Given the description of an element on the screen output the (x, y) to click on. 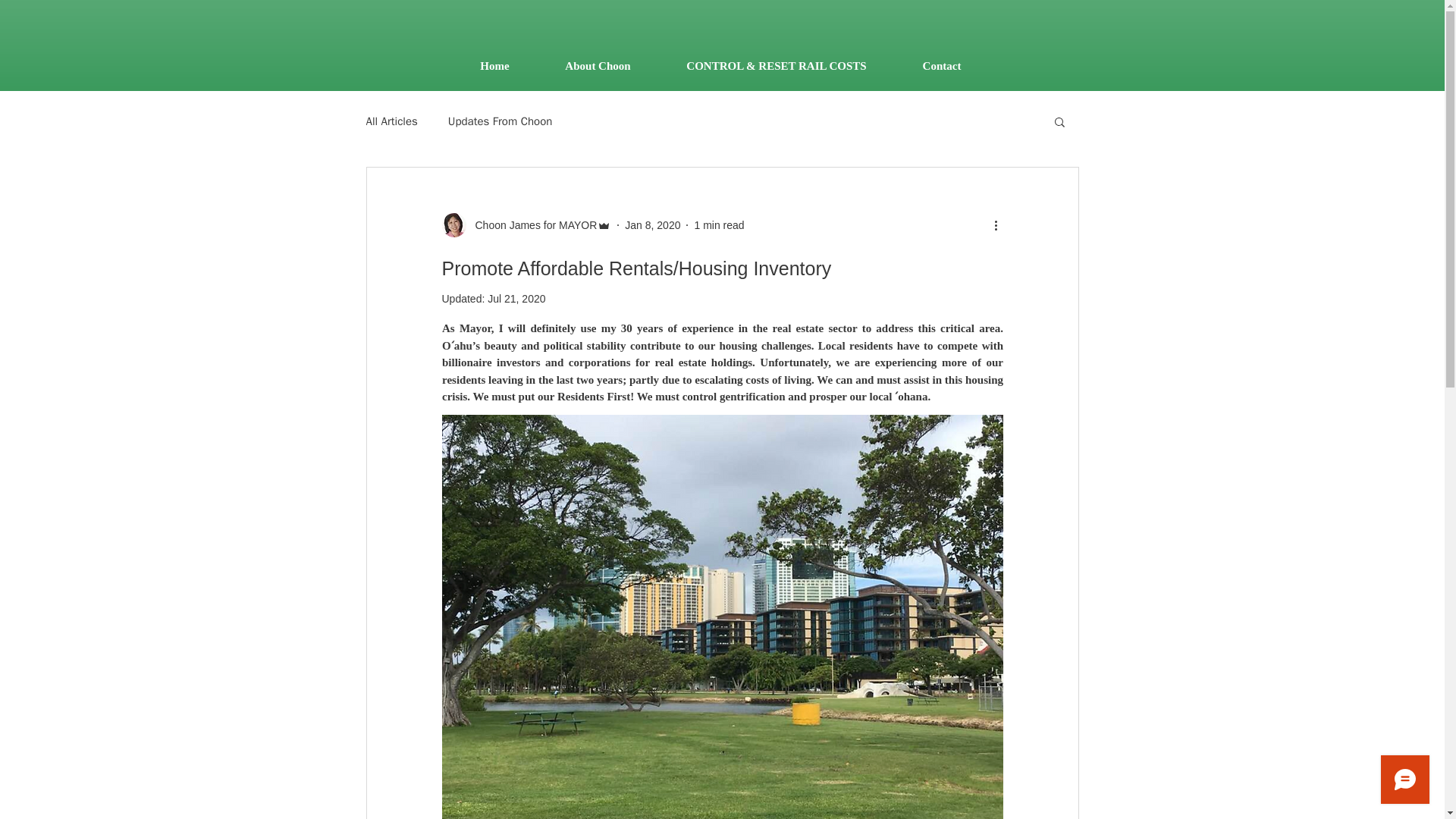
Jul 21, 2020 (515, 298)
Choon James for MAYOR (526, 224)
Jan 8, 2020 (651, 224)
Choon James for MAYOR (530, 224)
Contact (942, 65)
1 min read (719, 224)
All Articles (390, 120)
About Choon (597, 65)
Updates From Choon (500, 120)
Home (494, 65)
